Given the description of an element on the screen output the (x, y) to click on. 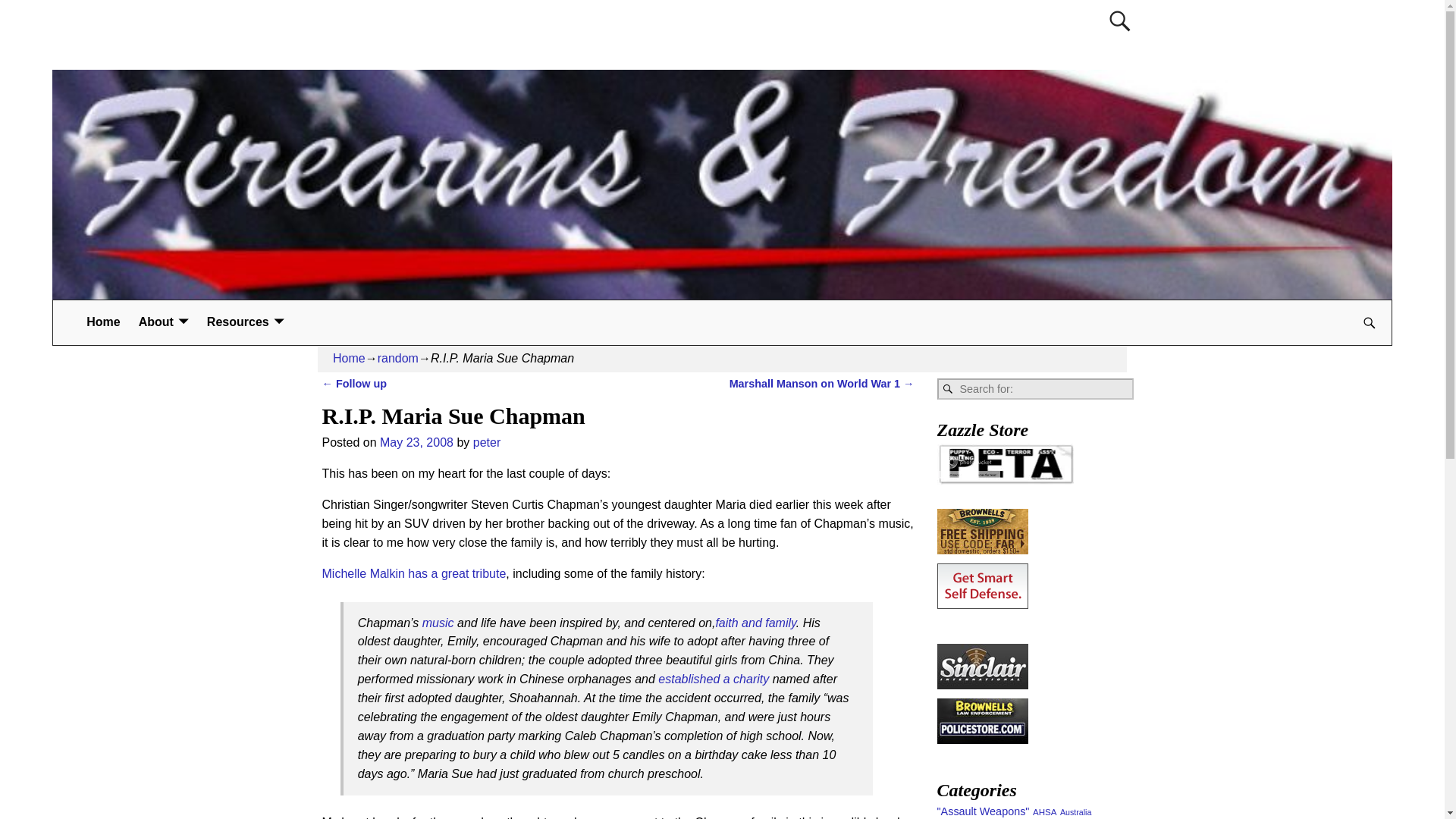
6:04 pm (416, 441)
Home (103, 322)
Michelle Malkin has a great tribute (413, 573)
faith and family (754, 622)
established a charity (713, 678)
peter (486, 441)
Home (103, 322)
"Assault Weapons" (983, 811)
Resources (246, 322)
AHSA (1044, 811)
